Given the description of an element on the screen output the (x, y) to click on. 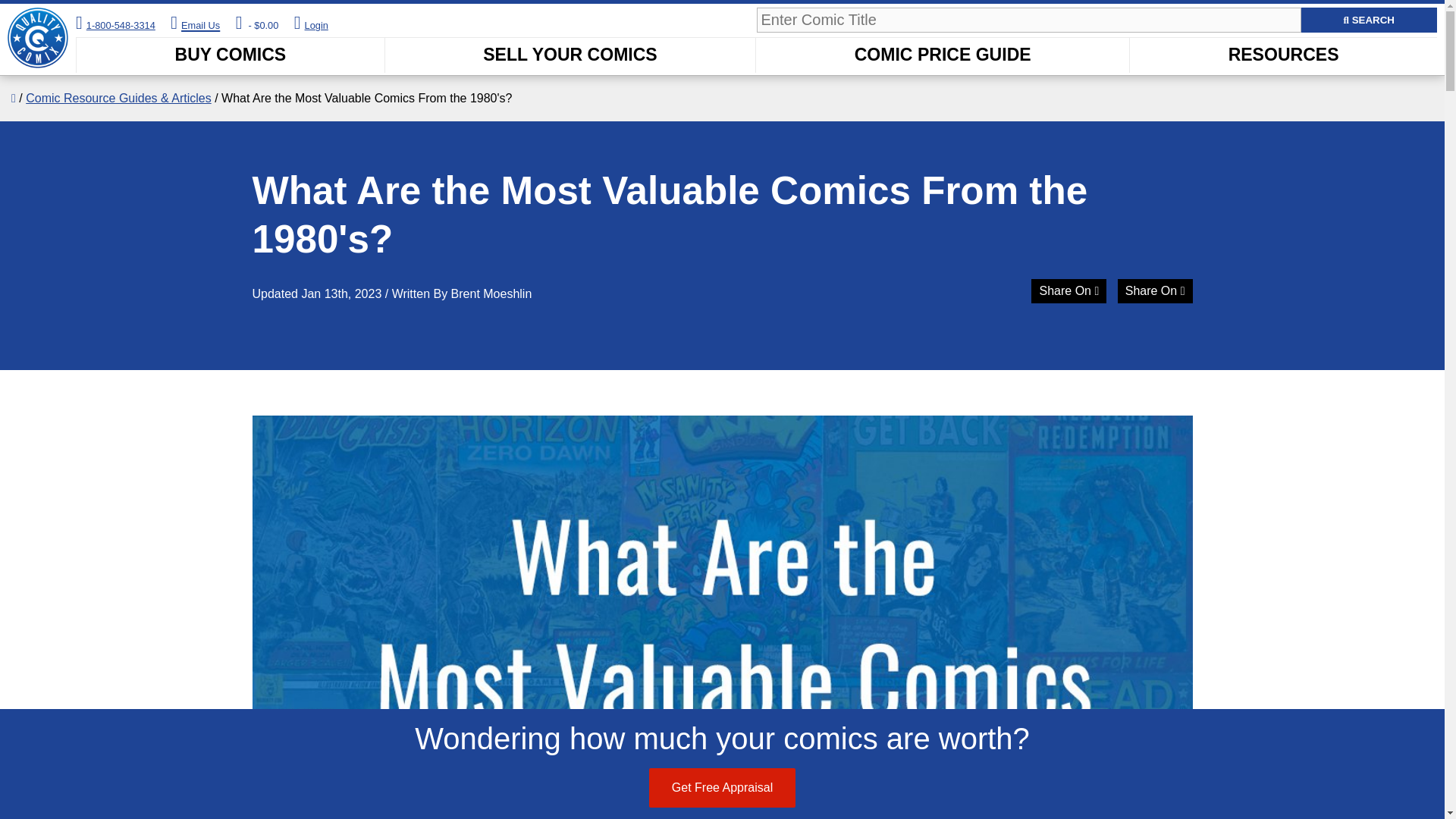
BUY COMICS (230, 54)
SELL YOUR COMICS (570, 54)
Email Us (194, 22)
COMIC PRICE GUIDE (942, 54)
Login (316, 25)
RESOURCES (1283, 54)
SEARCH (1369, 19)
1-800-548-3314 (120, 25)
